Given the description of an element on the screen output the (x, y) to click on. 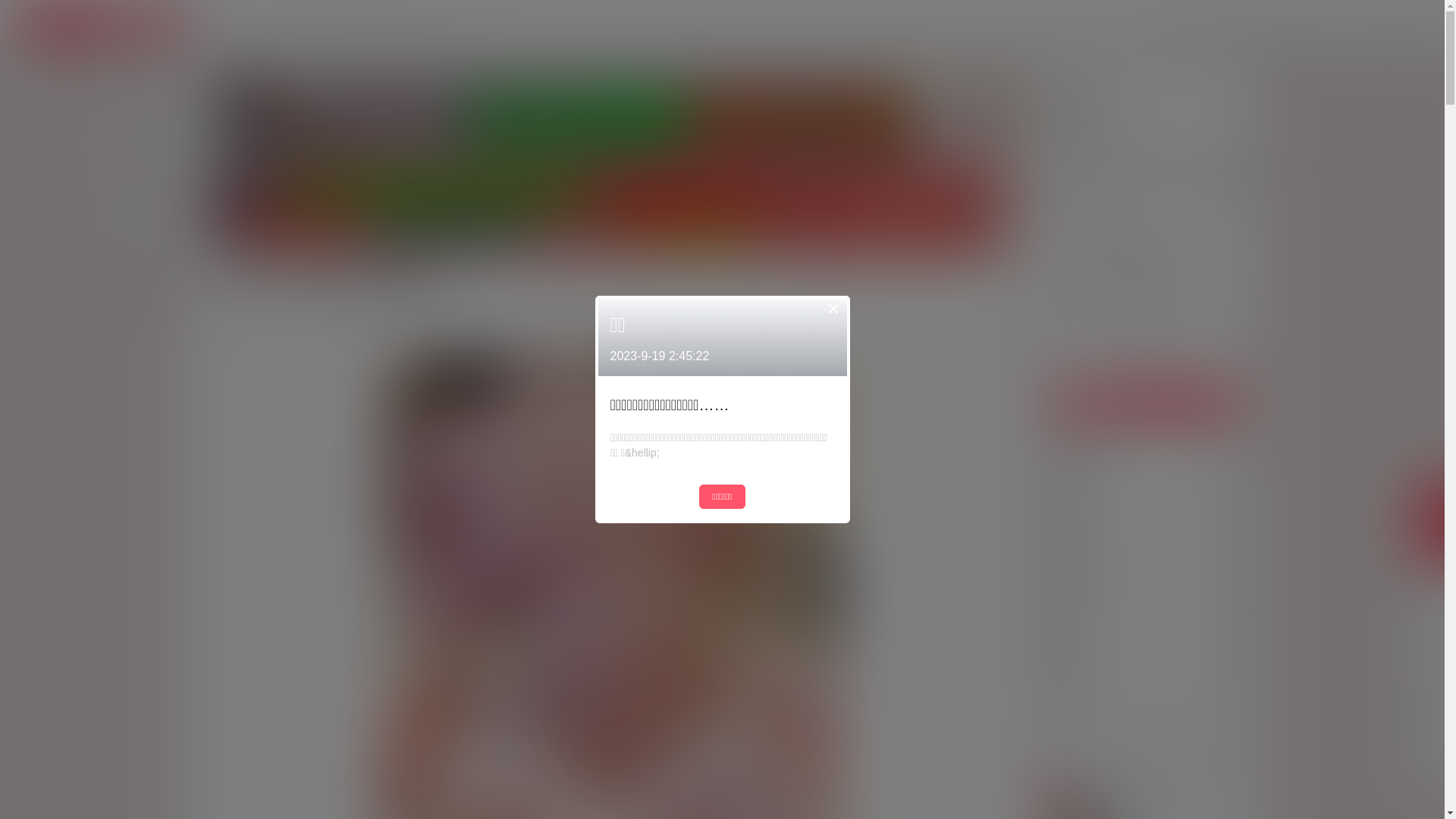
ok Element type: text (10, 10)
9527ooo Element type: text (1106, 443)
hhhrisk Element type: text (1103, 579)
